Given the description of an element on the screen output the (x, y) to click on. 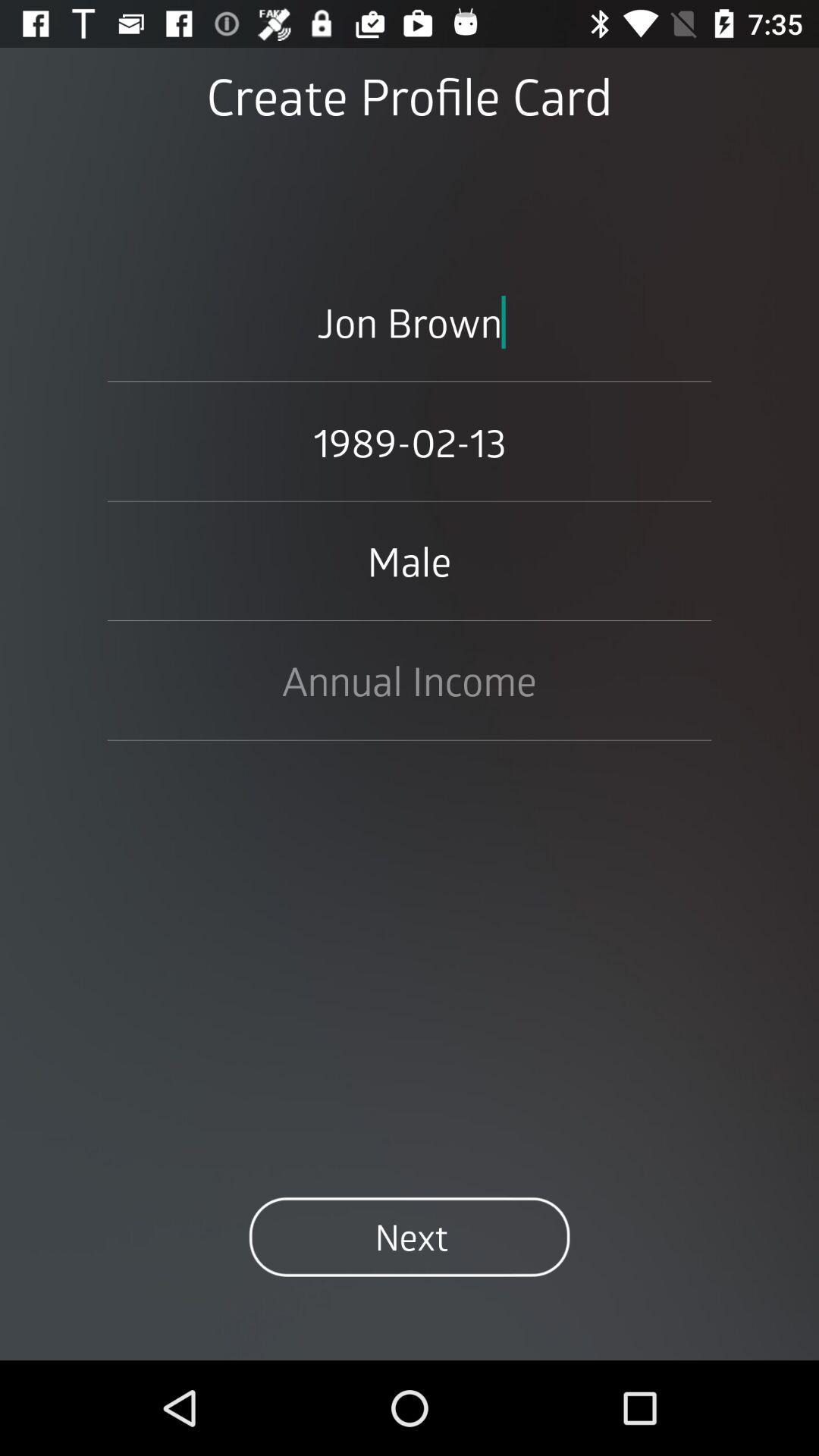
input annual income (409, 680)
